Given the description of an element on the screen output the (x, y) to click on. 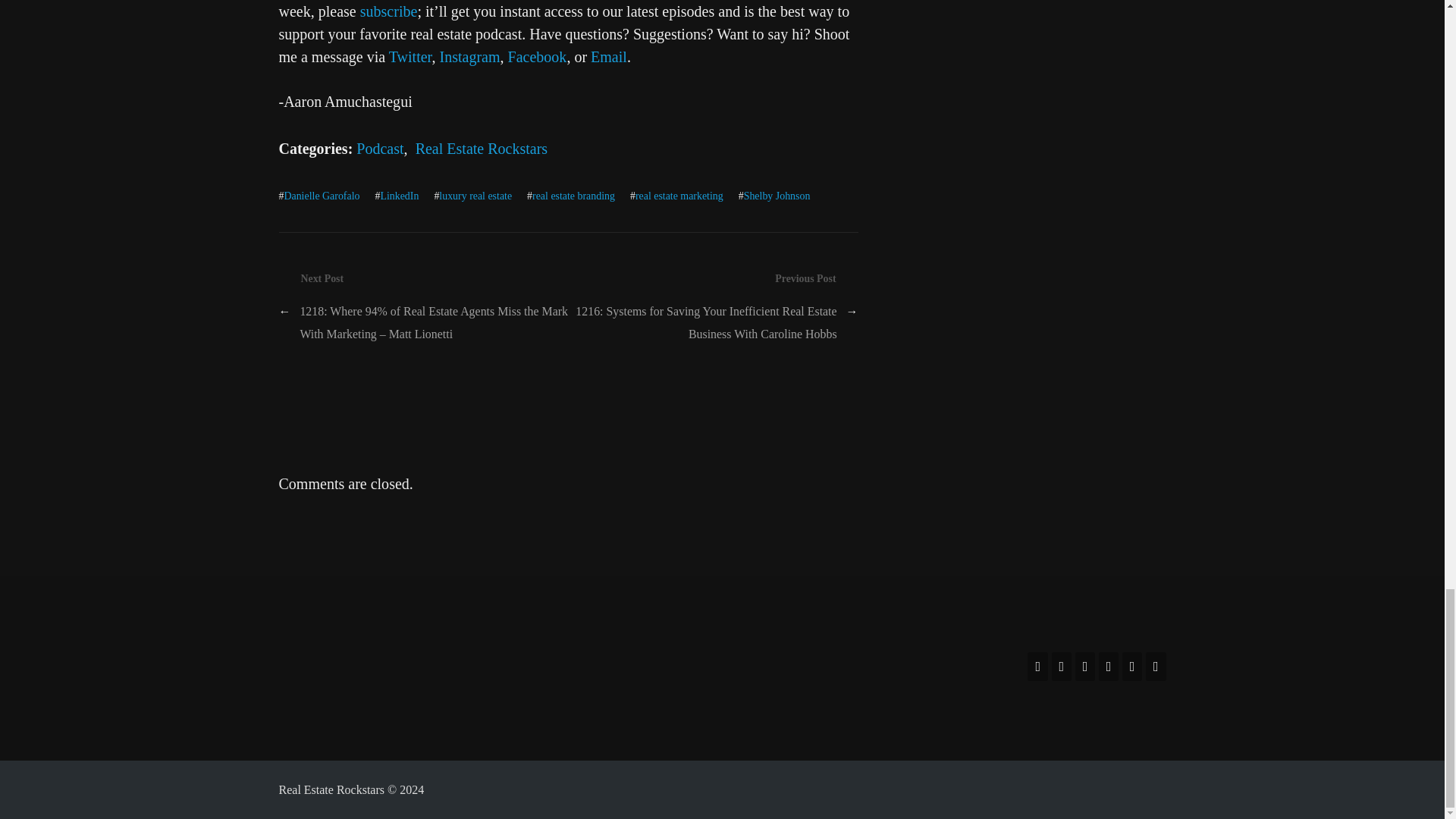
Email (609, 56)
LinkedIn (399, 195)
Instagram (469, 56)
subscribe (388, 11)
Twitter (410, 56)
Facebook (537, 56)
Real Estate Rockstars (481, 148)
luxury real estate (475, 195)
real estate marketing (678, 195)
